Given the description of an element on the screen output the (x, y) to click on. 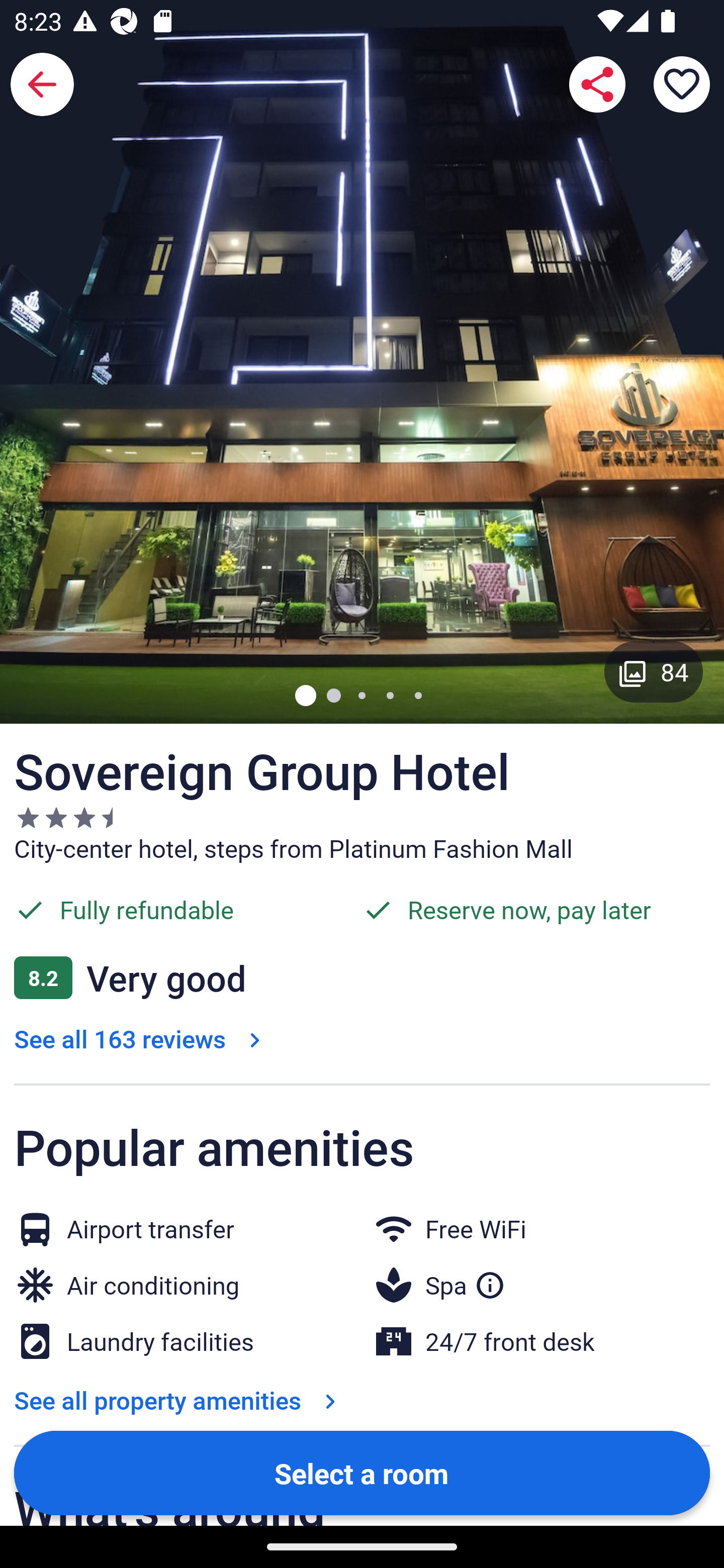
Back (42, 84)
Save property to a trip (681, 84)
Share Sovereign Group Hotel (597, 84)
Gallery button with 84 images (653, 671)
See all 163 reviews See all 163 reviews Link (140, 1038)
Spa (465, 1281)
See all property amenities (178, 1399)
Select a room Button Select a room (361, 1472)
